Given the description of an element on the screen output the (x, y) to click on. 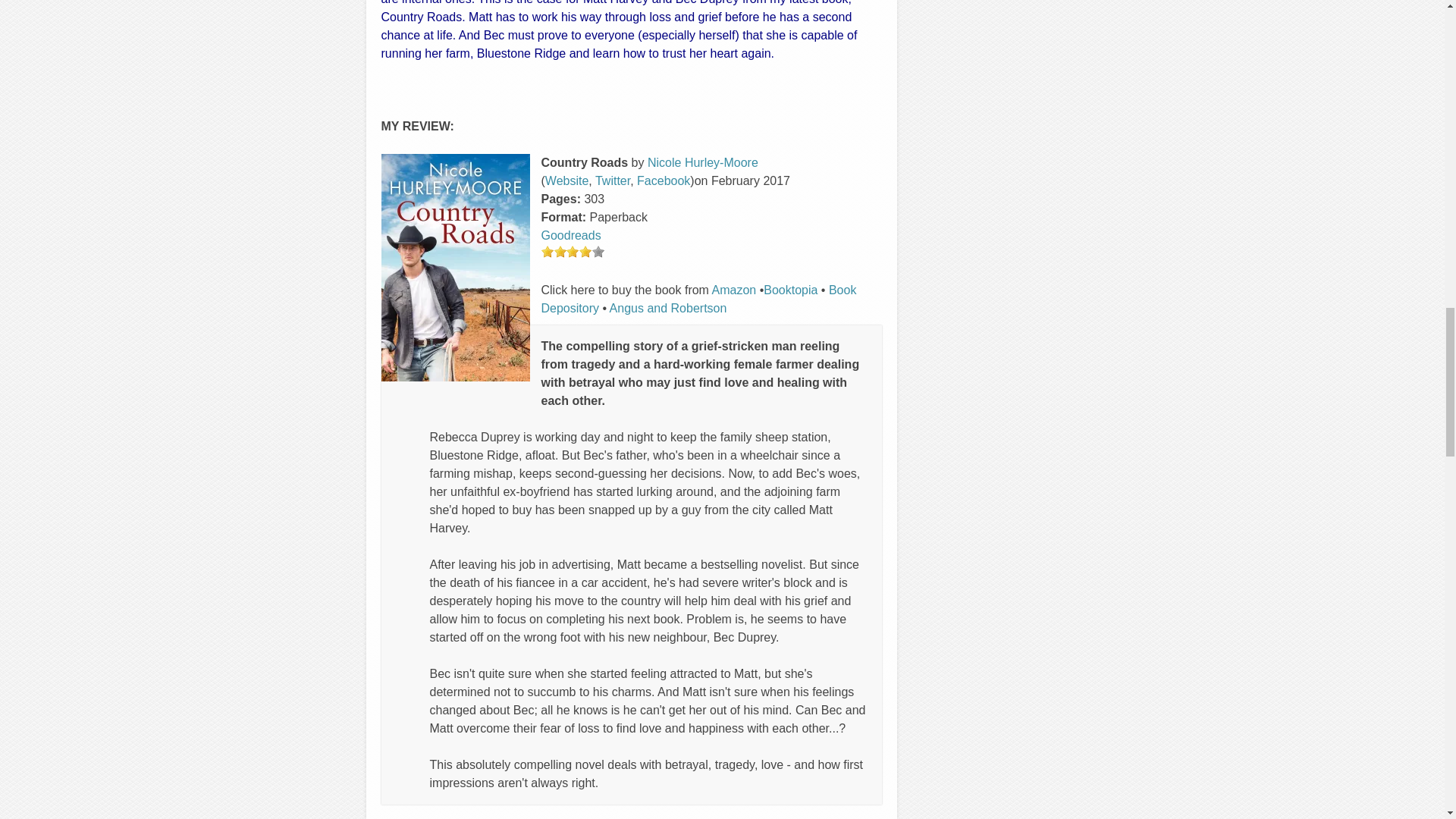
Booktopia (789, 289)
Angus and Robertson (668, 308)
Amazon (733, 289)
Book Depository (699, 298)
Website (566, 180)
Goodreads (571, 235)
Twitter (612, 180)
Nicole Hurley-Moore (702, 162)
Facebook (663, 180)
